Given the description of an element on the screen output the (x, y) to click on. 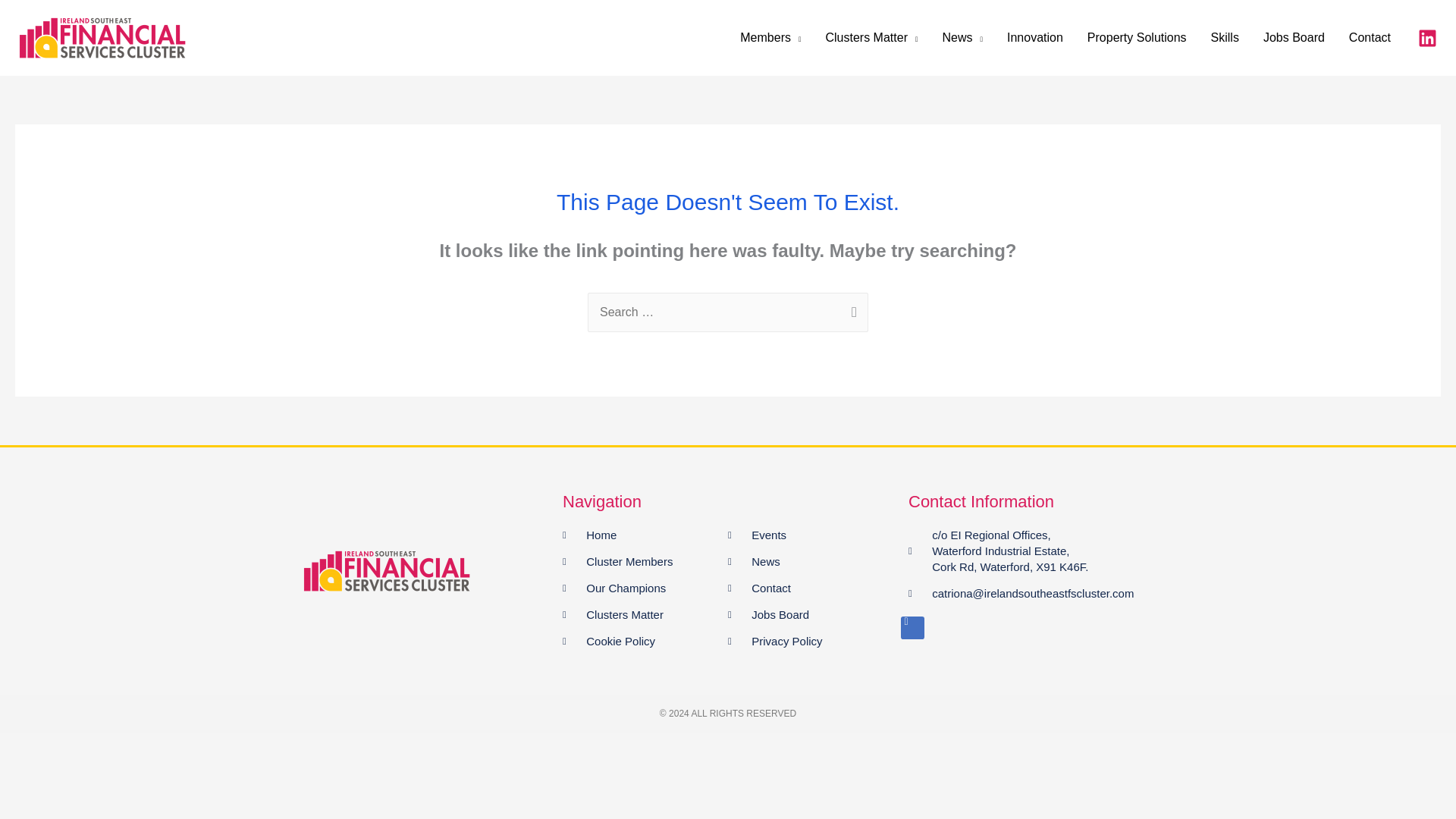
Clusters Matter (645, 614)
News (962, 37)
Innovation (1034, 37)
Contact (1369, 37)
Jobs Board (1293, 37)
Skills (1224, 37)
Events (810, 534)
Members (770, 37)
Our Champions (645, 587)
Contact (810, 587)
News (810, 561)
Clusters Matter (871, 37)
Cookie Policy (645, 641)
Home (645, 534)
Cluster Members (645, 561)
